Given the description of an element on the screen output the (x, y) to click on. 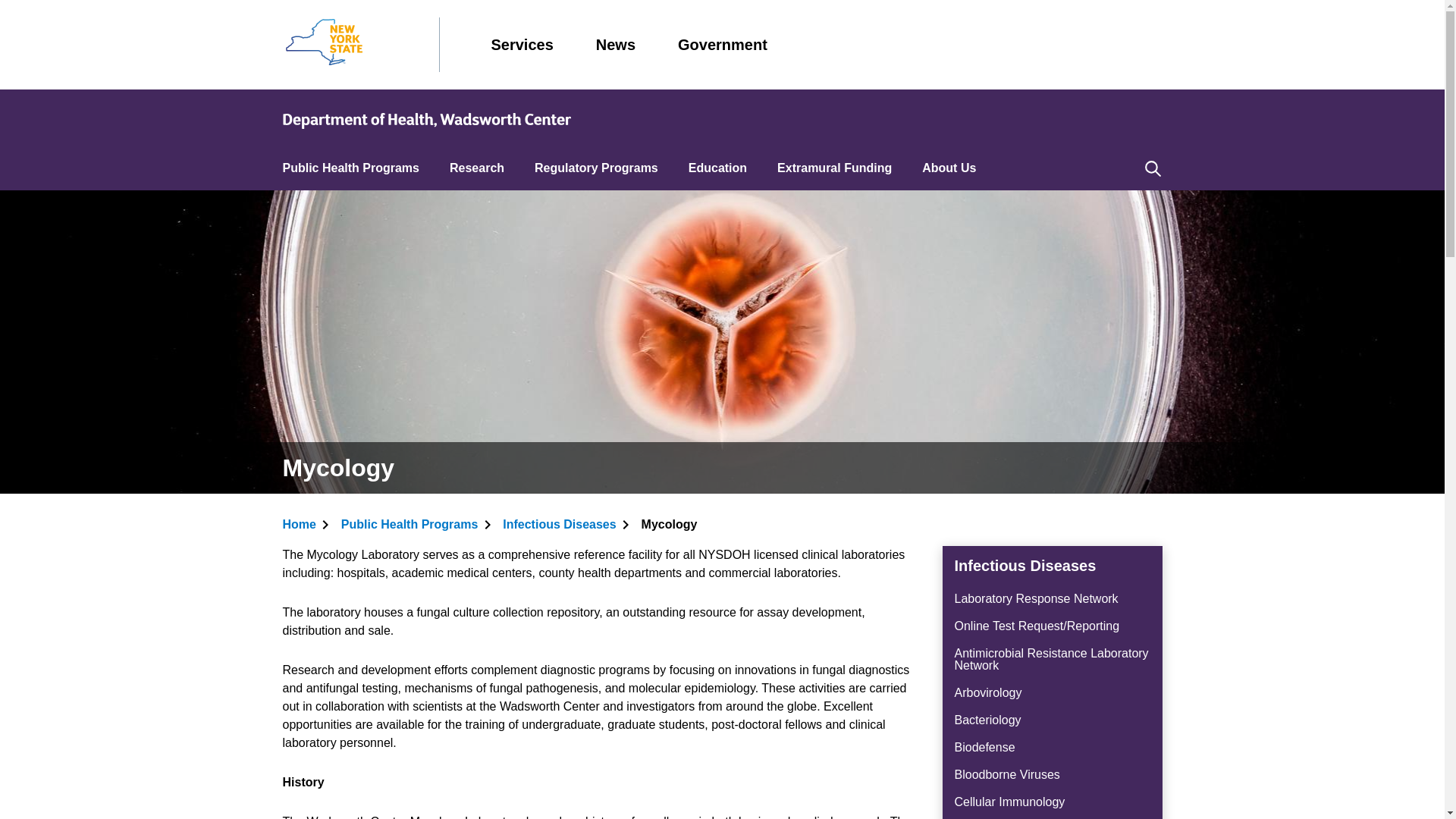
Public Health Programs (350, 167)
Government (722, 44)
Research (476, 167)
New York State Home (323, 44)
Home (426, 119)
Services (522, 44)
News (614, 44)
